Given the description of an element on the screen output the (x, y) to click on. 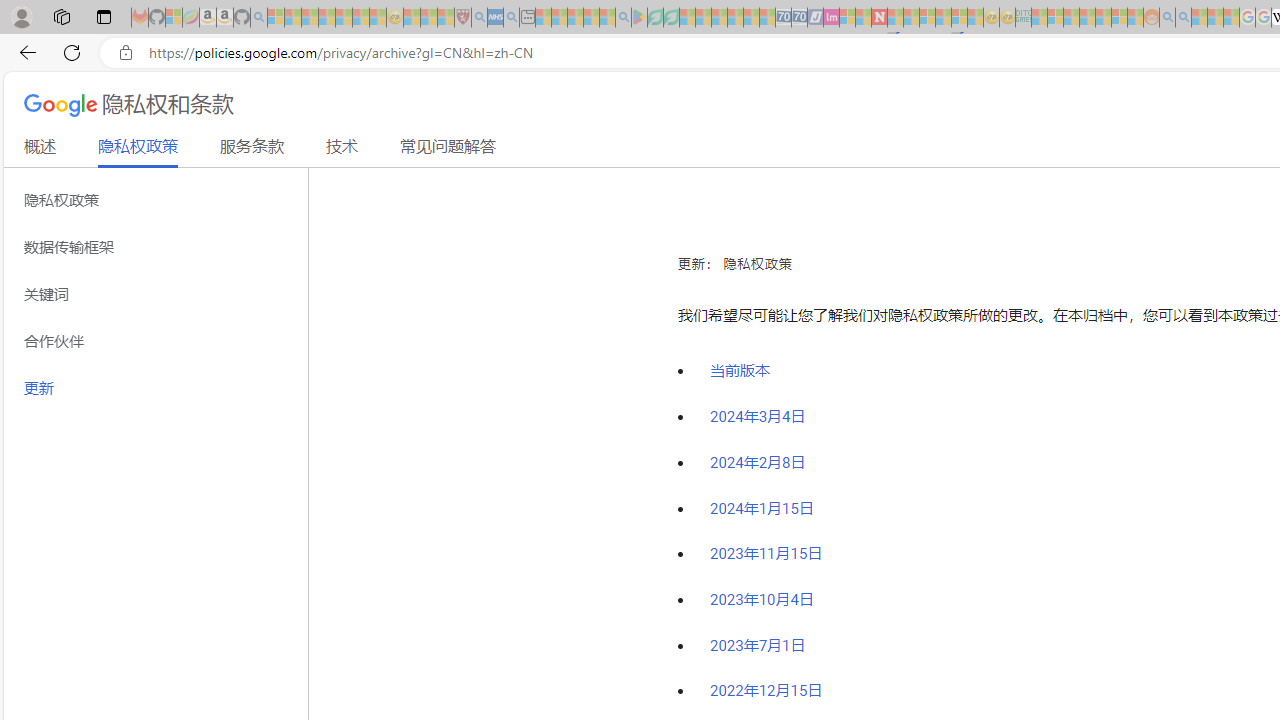
Robert H. Shmerling, MD - Harvard Health - Sleeping (462, 17)
Local - MSN - Sleeping (445, 17)
Cheap Hotels - Save70.com - Sleeping (799, 17)
Cheap Car Rentals - Save70.com - Sleeping (783, 17)
Latest Politics News & Archive | Newsweek.com - Sleeping (879, 17)
